Given the description of an element on the screen output the (x, y) to click on. 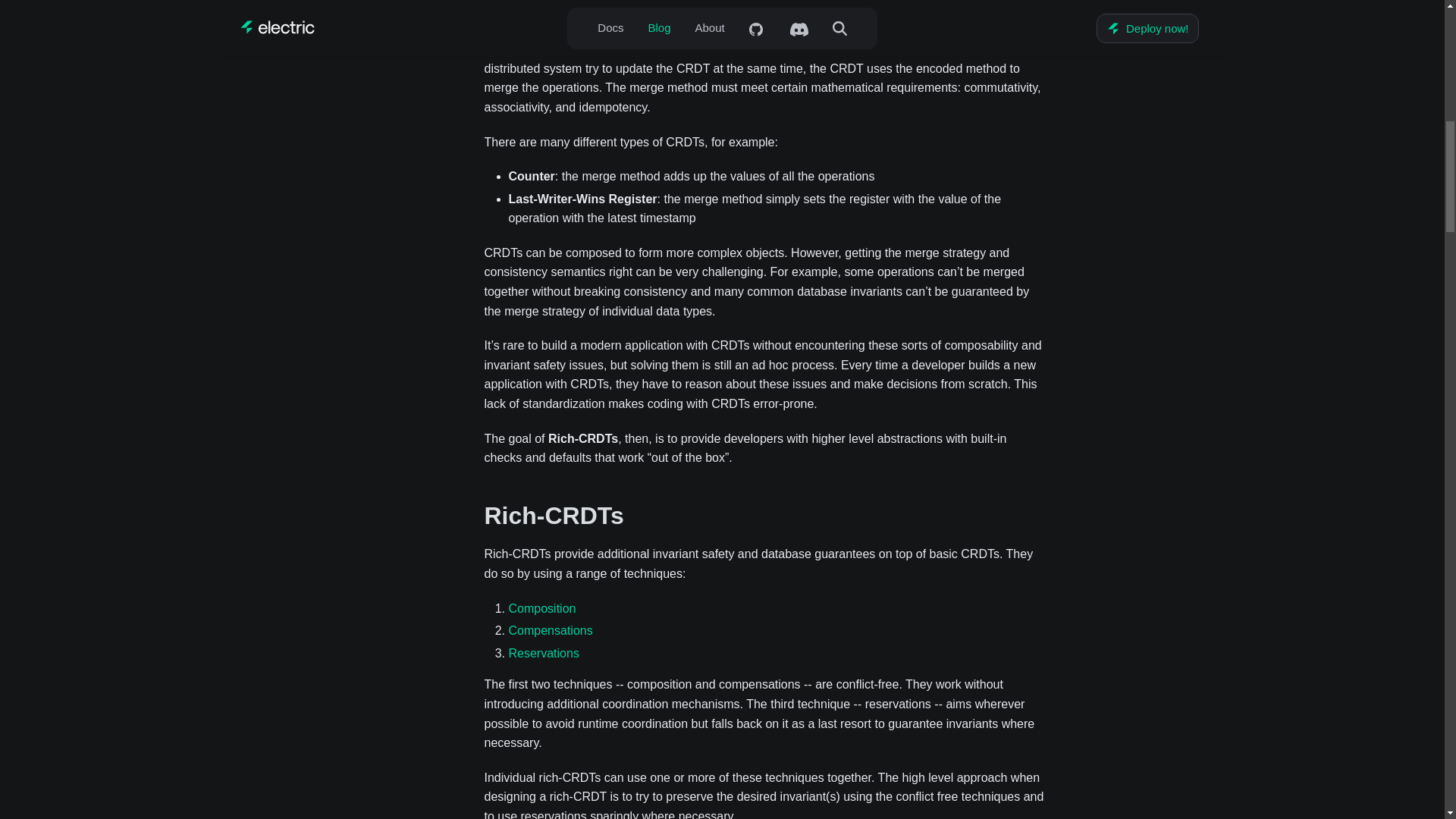
Compensations (550, 630)
Reservations (543, 653)
Composition (541, 608)
